Given the description of an element on the screen output the (x, y) to click on. 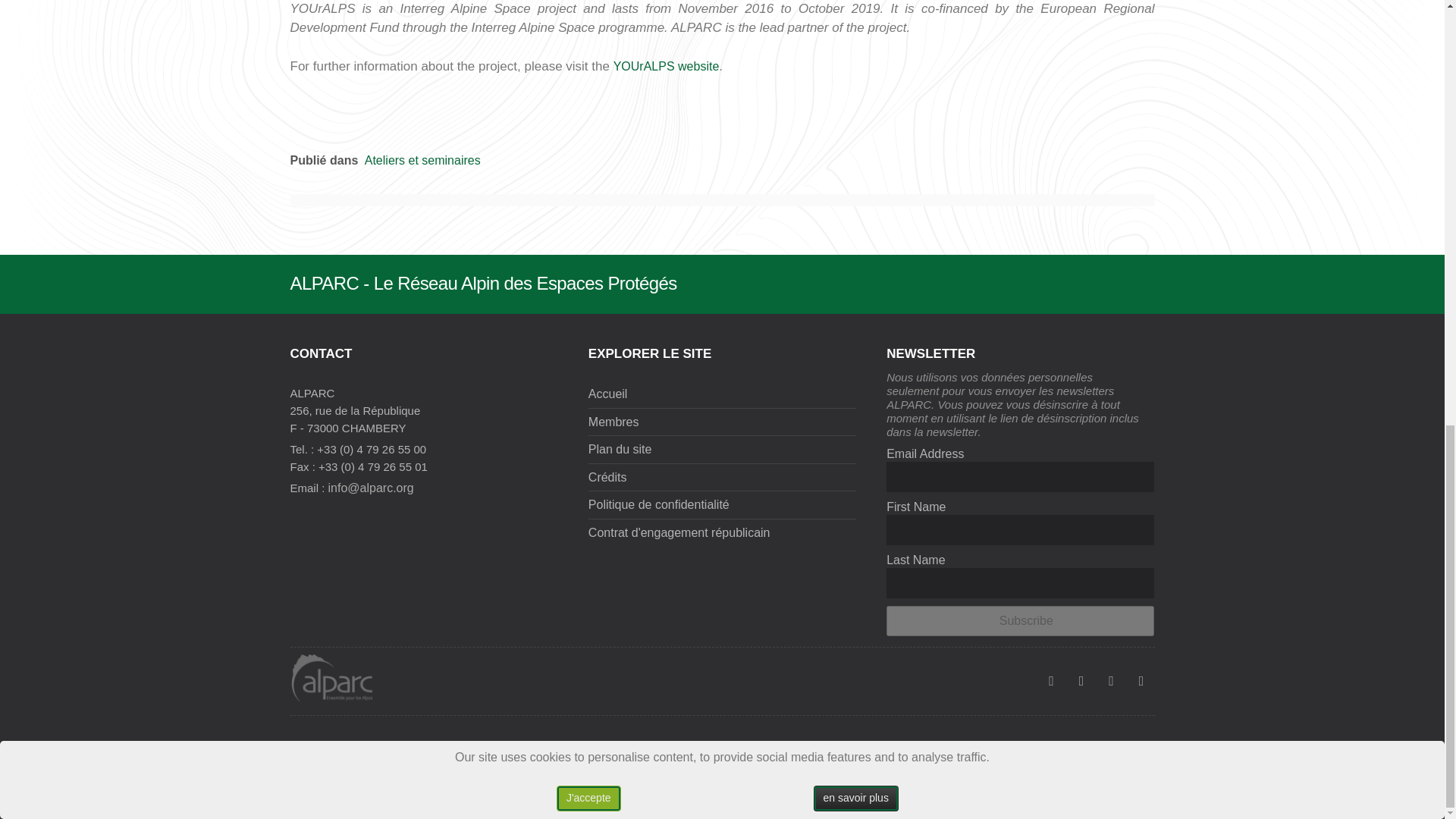
Calameo (1110, 681)
Facebook (1051, 681)
E-mail (1141, 681)
Subscribe (1020, 621)
Youtube (1081, 681)
